Given the description of an element on the screen output the (x, y) to click on. 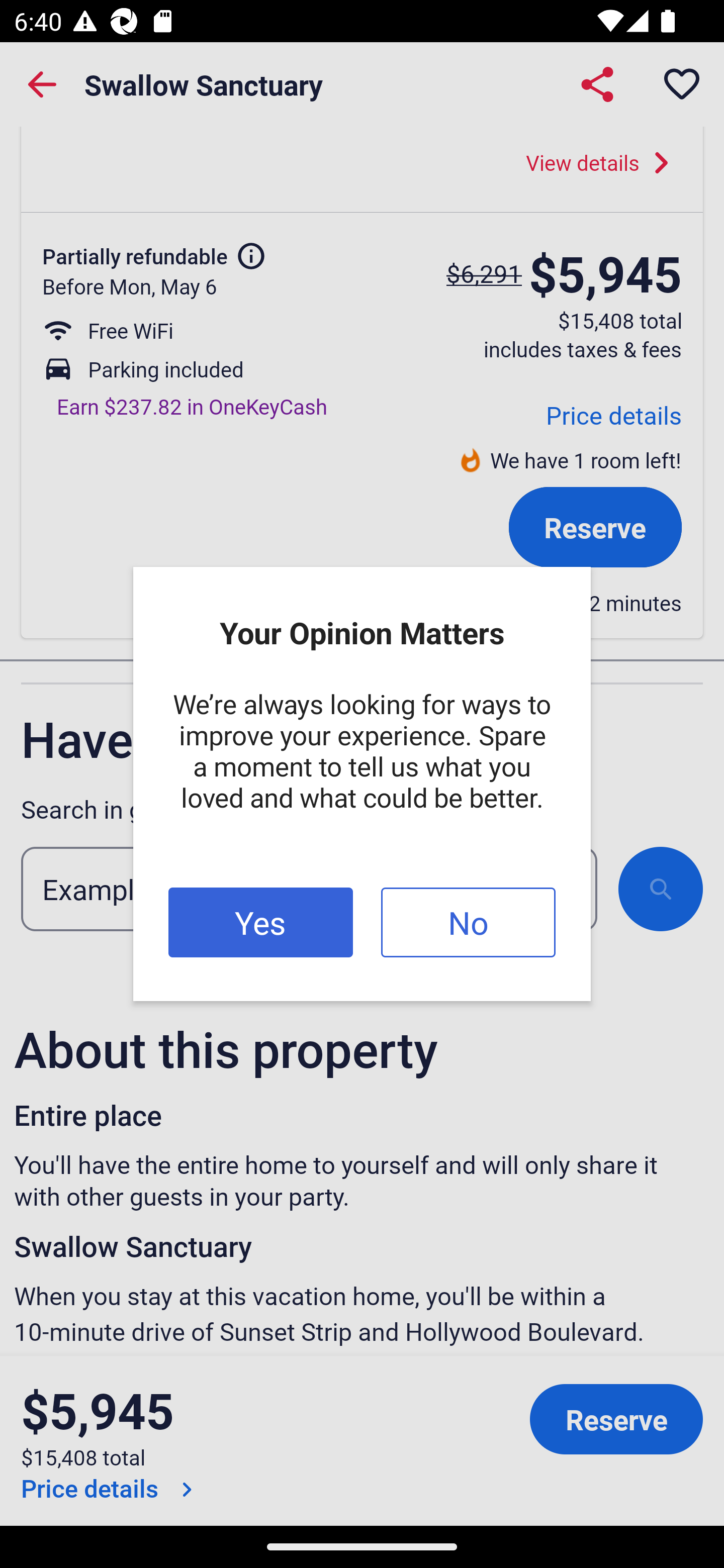
Yes Yes button (260, 922)
No No button (467, 922)
